Given the description of an element on the screen output the (x, y) to click on. 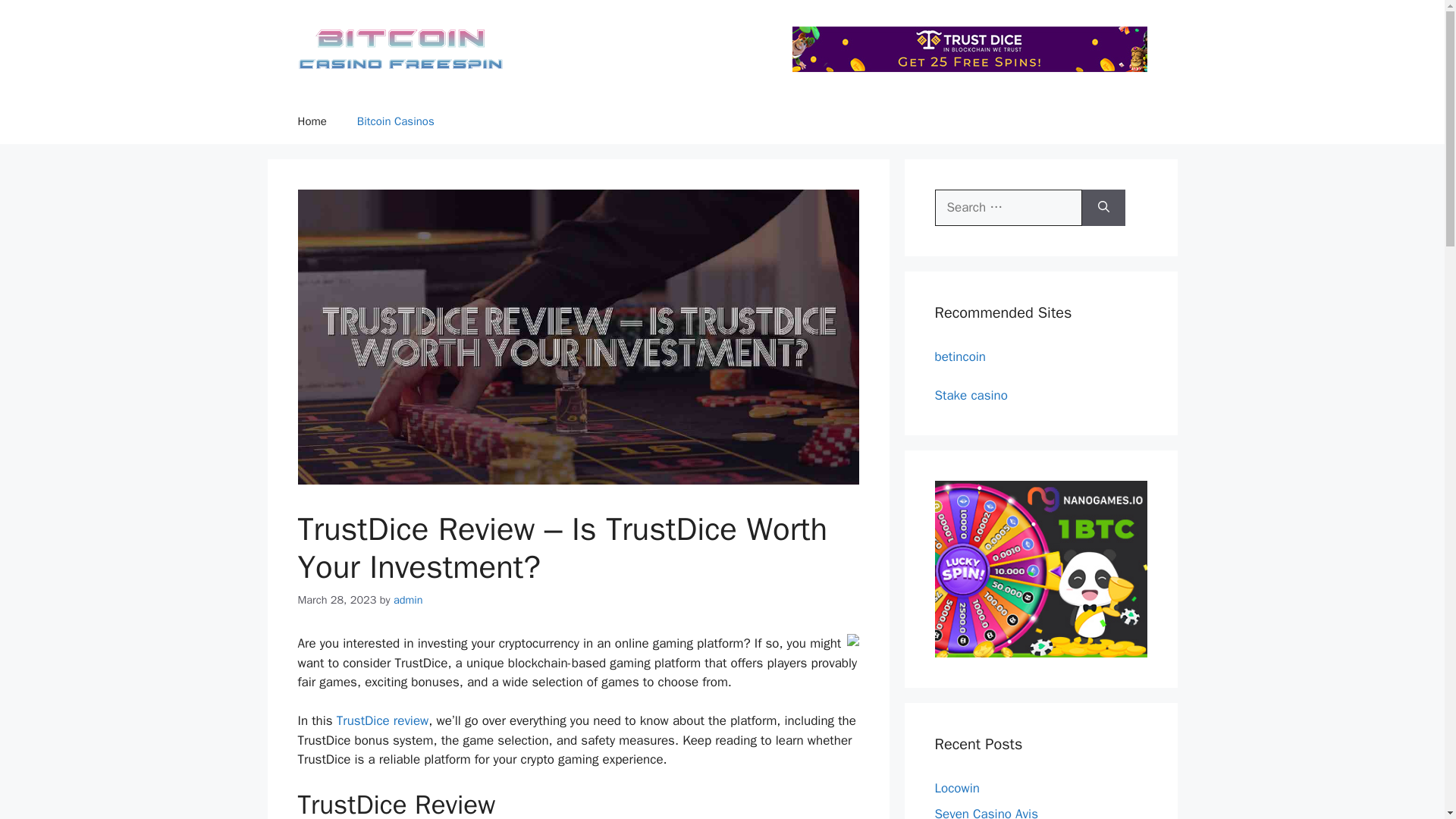
View all posts by admin (408, 599)
Bitcoin Casinos (395, 121)
Search for: (1007, 207)
betincoin (959, 356)
Bitcoin Casino Free Spin Archive (400, 49)
Home (311, 121)
Locowin (956, 788)
admin (408, 599)
Seven Casino Avis (985, 812)
Bitcoin Casino Free Spin Archive (400, 48)
